Given the description of an element on the screen output the (x, y) to click on. 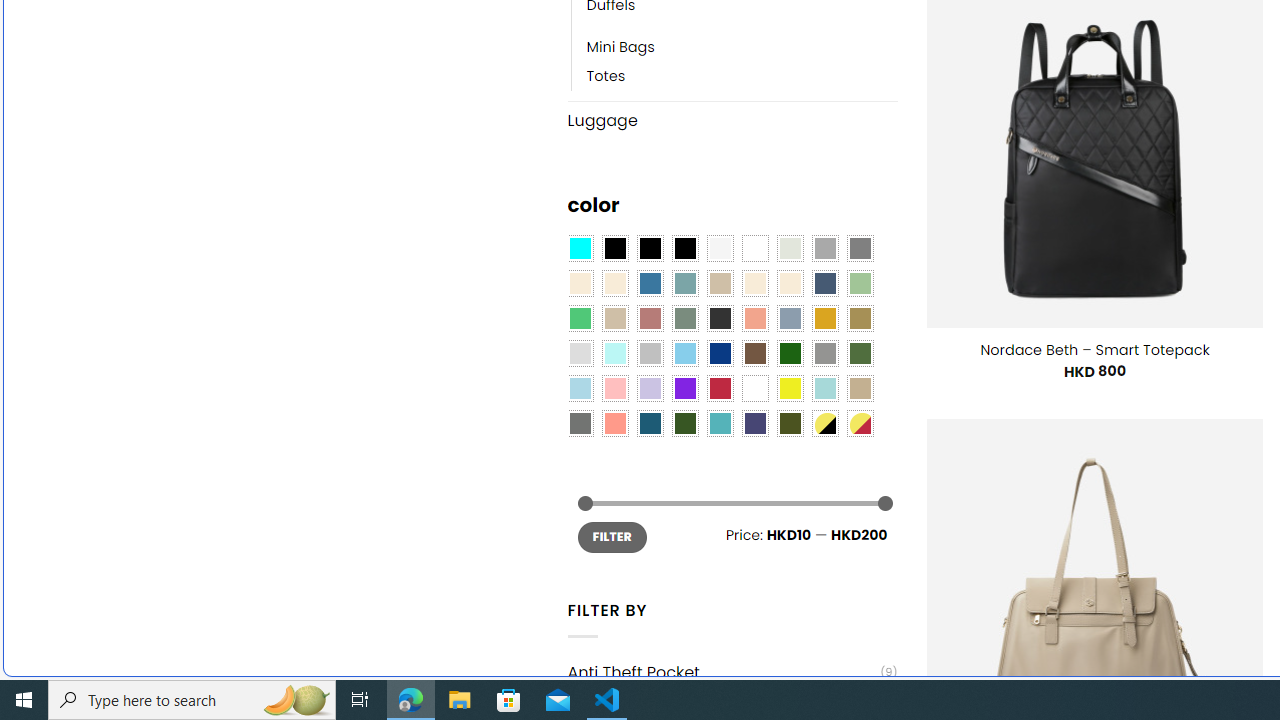
Dull Nickle (579, 424)
Red (719, 388)
Black-Brown (684, 249)
Dark Gray (824, 249)
Kelp (859, 318)
